Given the description of an element on the screen output the (x, y) to click on. 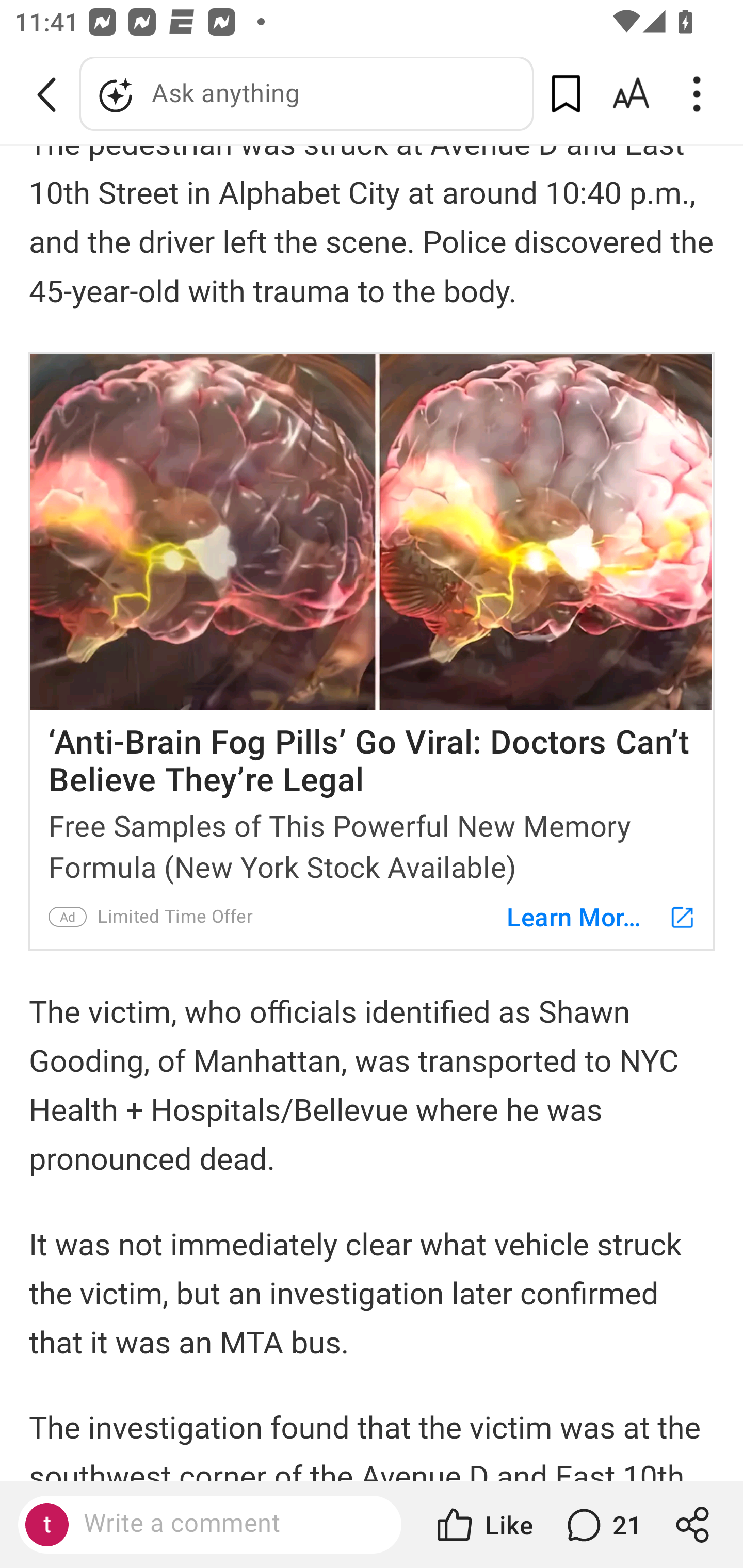
Ask anything (306, 93)
Learn More >> (591, 916)
Limited Time Offer (174, 916)
Like (483, 1524)
21 (601, 1524)
Write a comment (226, 1523)
